Given the description of an element on the screen output the (x, y) to click on. 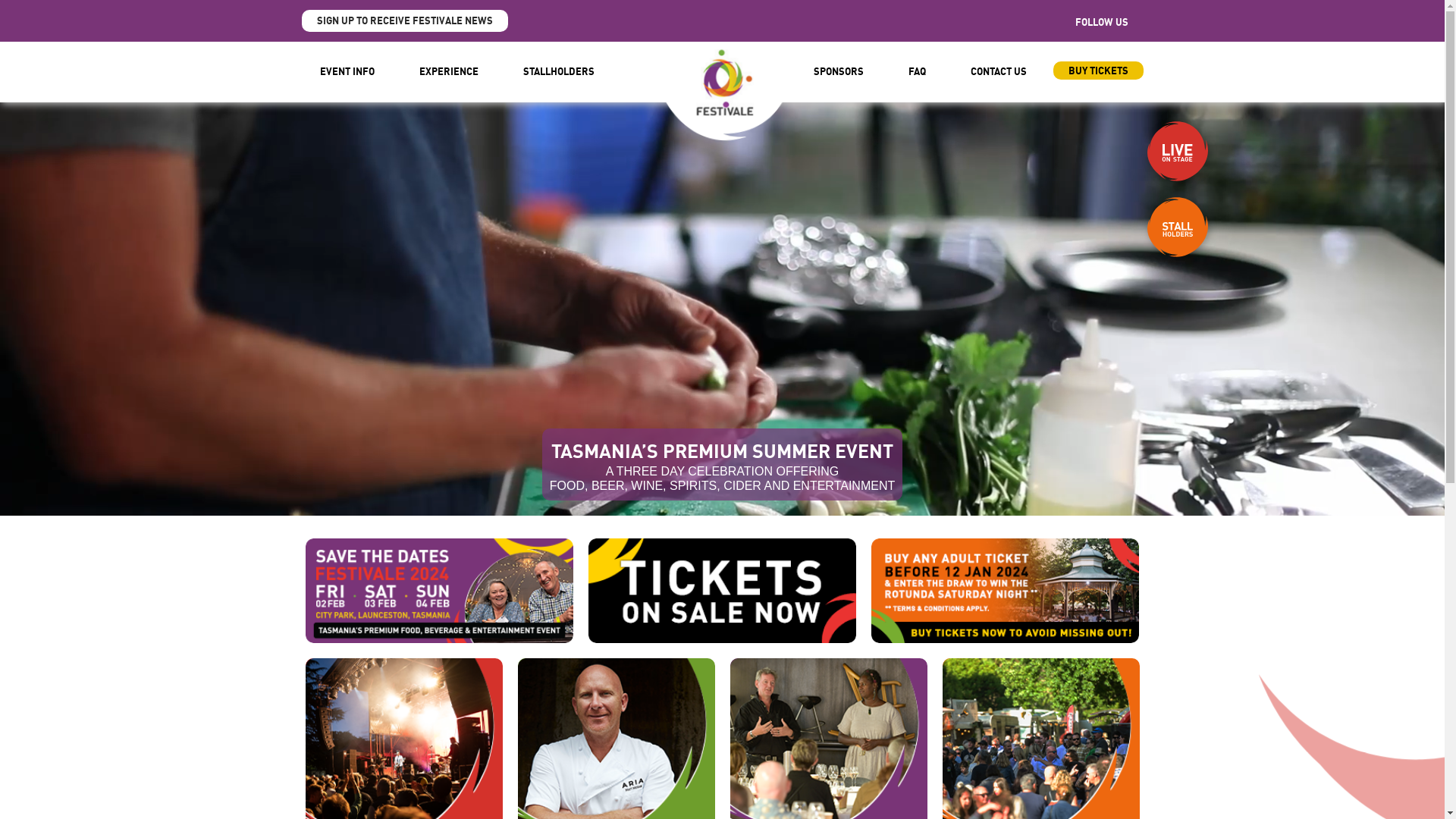
STALLHOLDERS Element type: text (558, 71)
Skip to content Element type: text (0, 41)
CONTACT US Element type: text (998, 71)
EVENT INFO Element type: text (347, 71)
BUY TICKETS Element type: text (1097, 70)
FAQ Element type: text (916, 71)
EXPERIENCE Element type: text (448, 71)
SPONSORS Element type: text (838, 71)
